Given the description of an element on the screen output the (x, y) to click on. 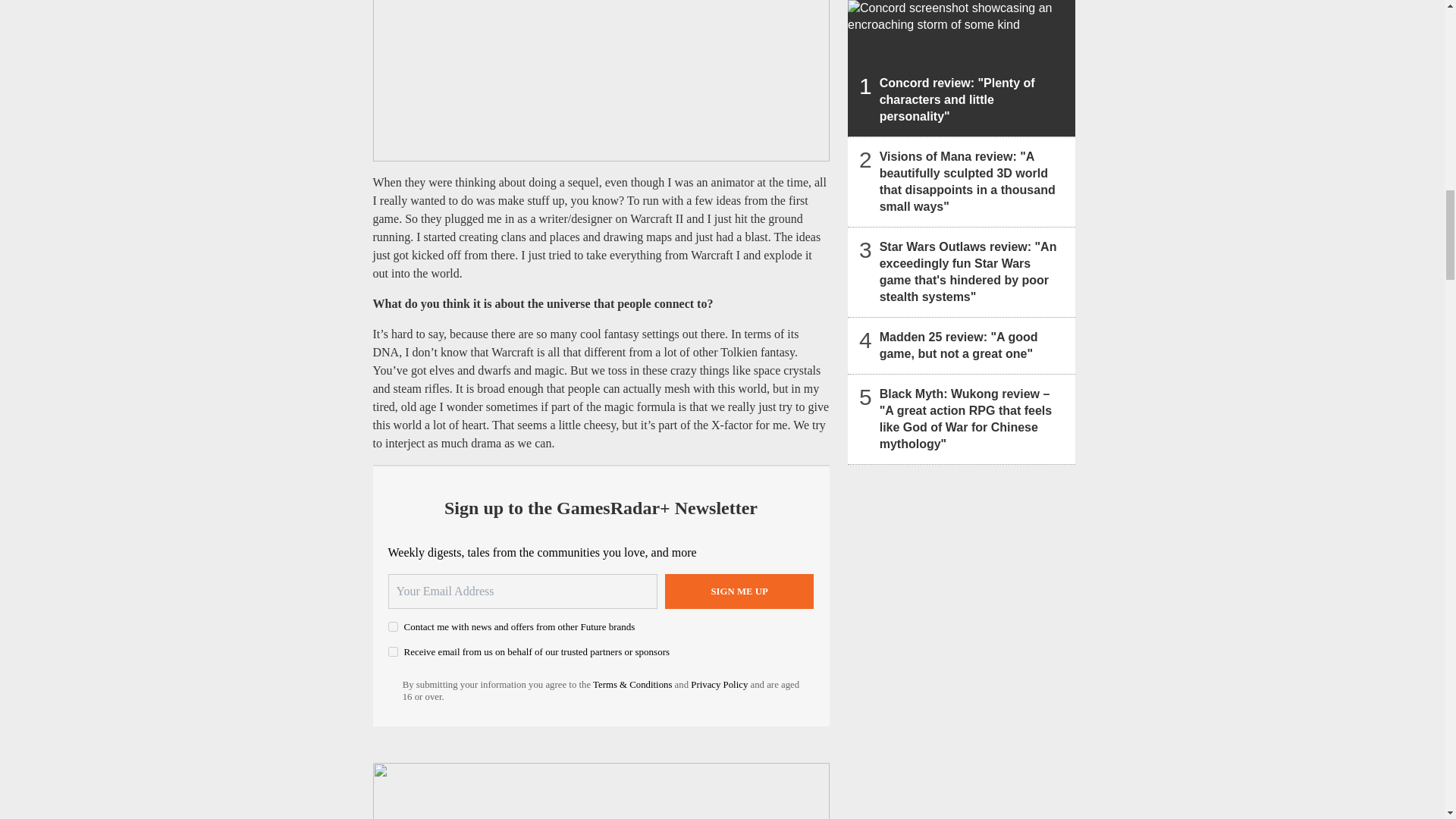
on (392, 651)
on (392, 626)
Sign me up (739, 591)
